Given the description of an element on the screen output the (x, y) to click on. 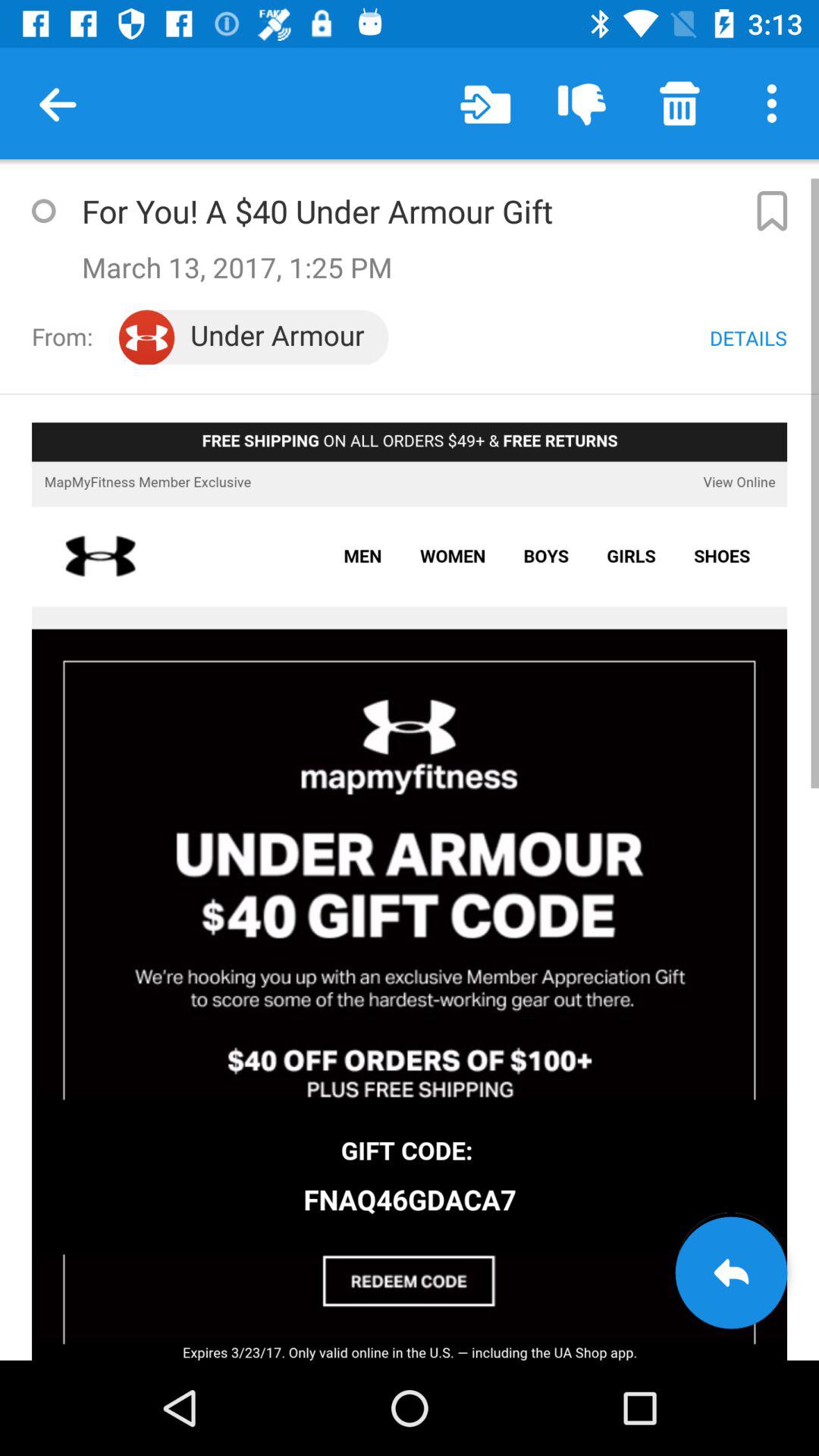
icon button (771, 210)
